Given the description of an element on the screen output the (x, y) to click on. 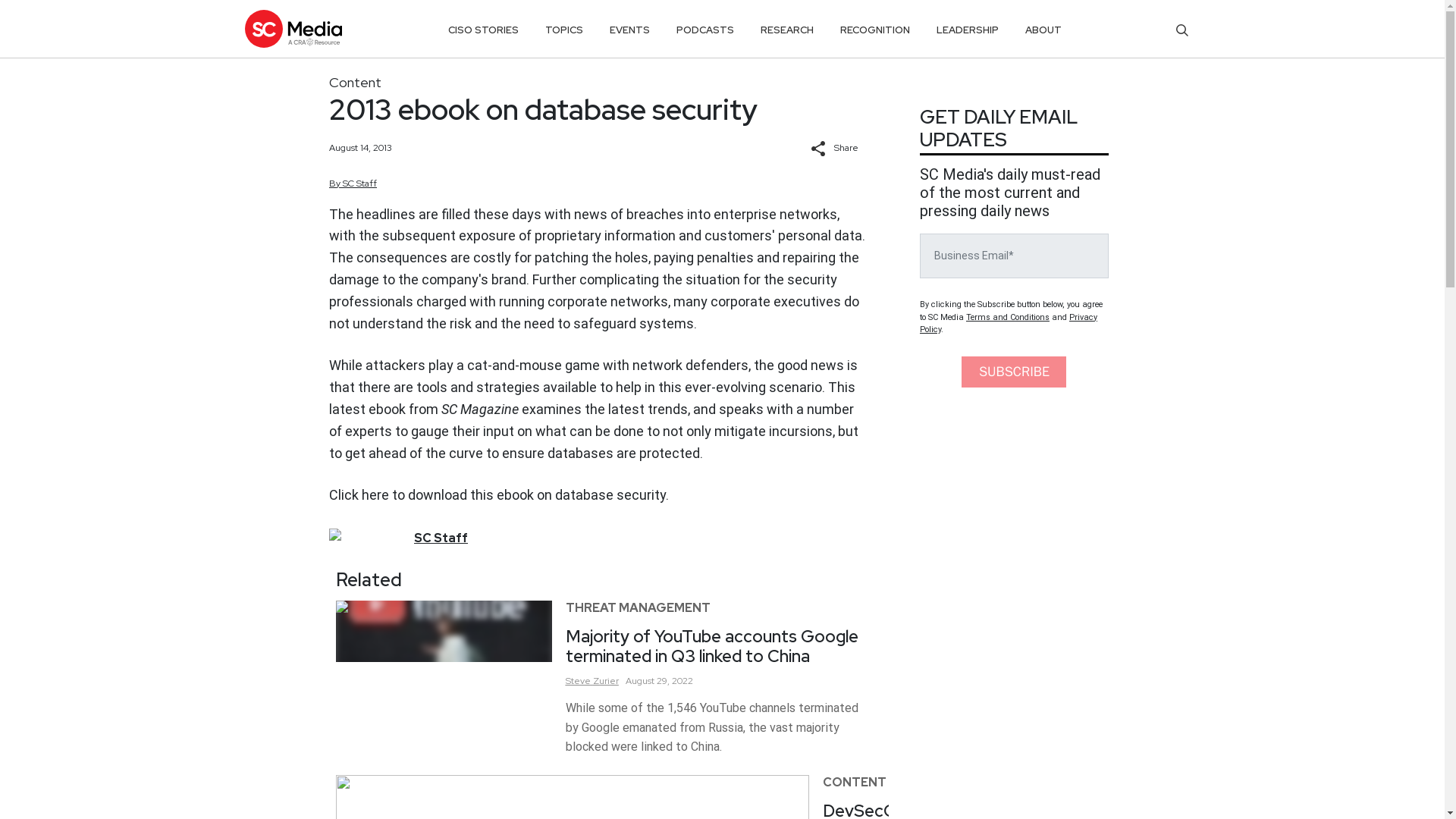
By SC Staff (353, 183)
Steve Zurier (592, 680)
Terms and Conditions (1007, 317)
THREAT MANAGEMENT (638, 607)
EVENTS (629, 30)
PODCASTS (705, 30)
Click here (358, 494)
RESEARCH (786, 30)
LEADERSHIP (967, 30)
SUBSCRIBE (1012, 371)
CONTENT (854, 781)
SC Staff (440, 537)
TOPICS (563, 30)
RECOGNITION (875, 30)
